Given the description of an element on the screen output the (x, y) to click on. 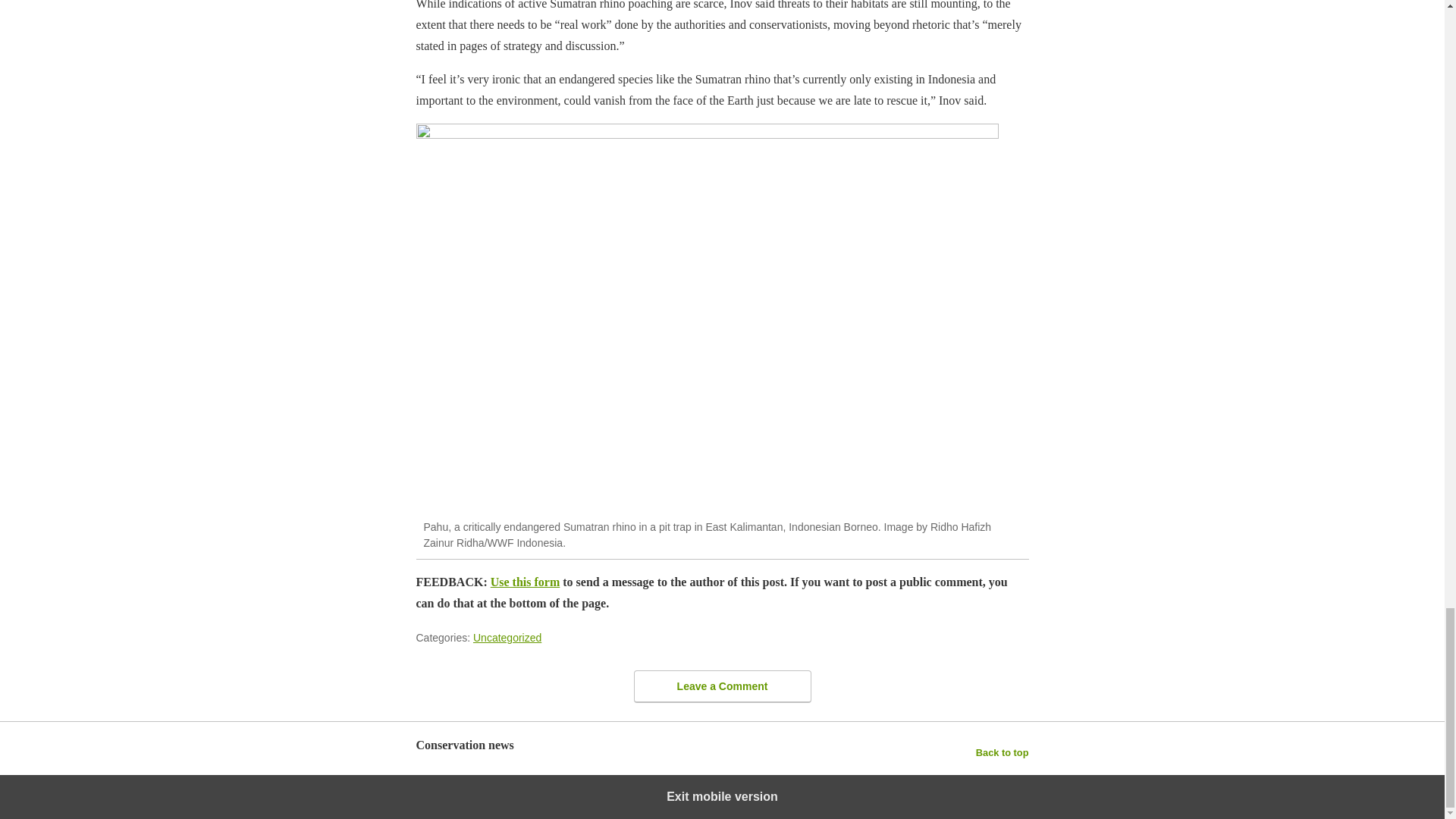
Uncategorized (507, 637)
Leave a Comment (721, 685)
Use this form (525, 581)
Back to top (1002, 752)
